Given the description of an element on the screen output the (x, y) to click on. 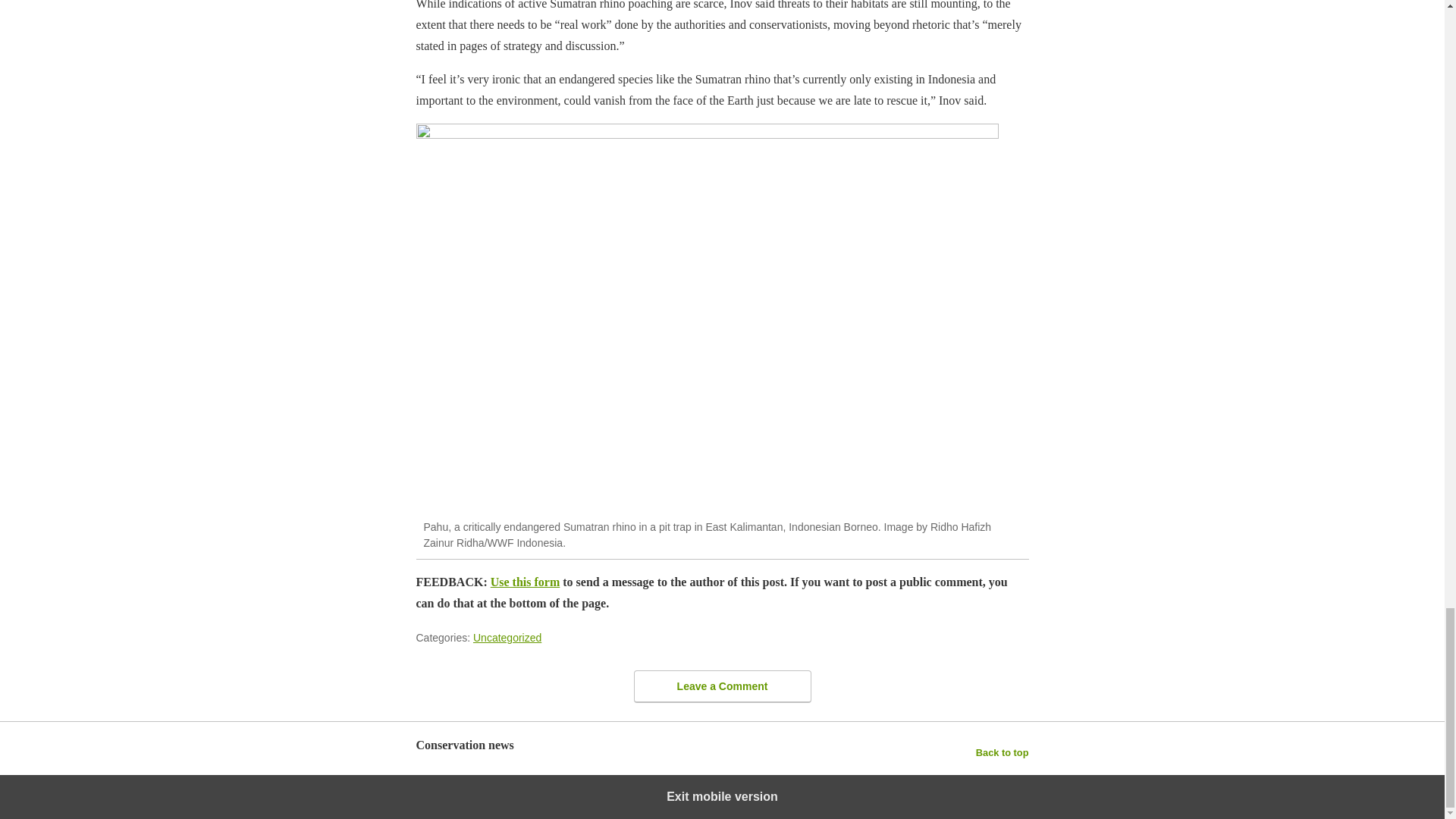
Uncategorized (507, 637)
Leave a Comment (721, 685)
Use this form (525, 581)
Back to top (1002, 752)
